Given the description of an element on the screen output the (x, y) to click on. 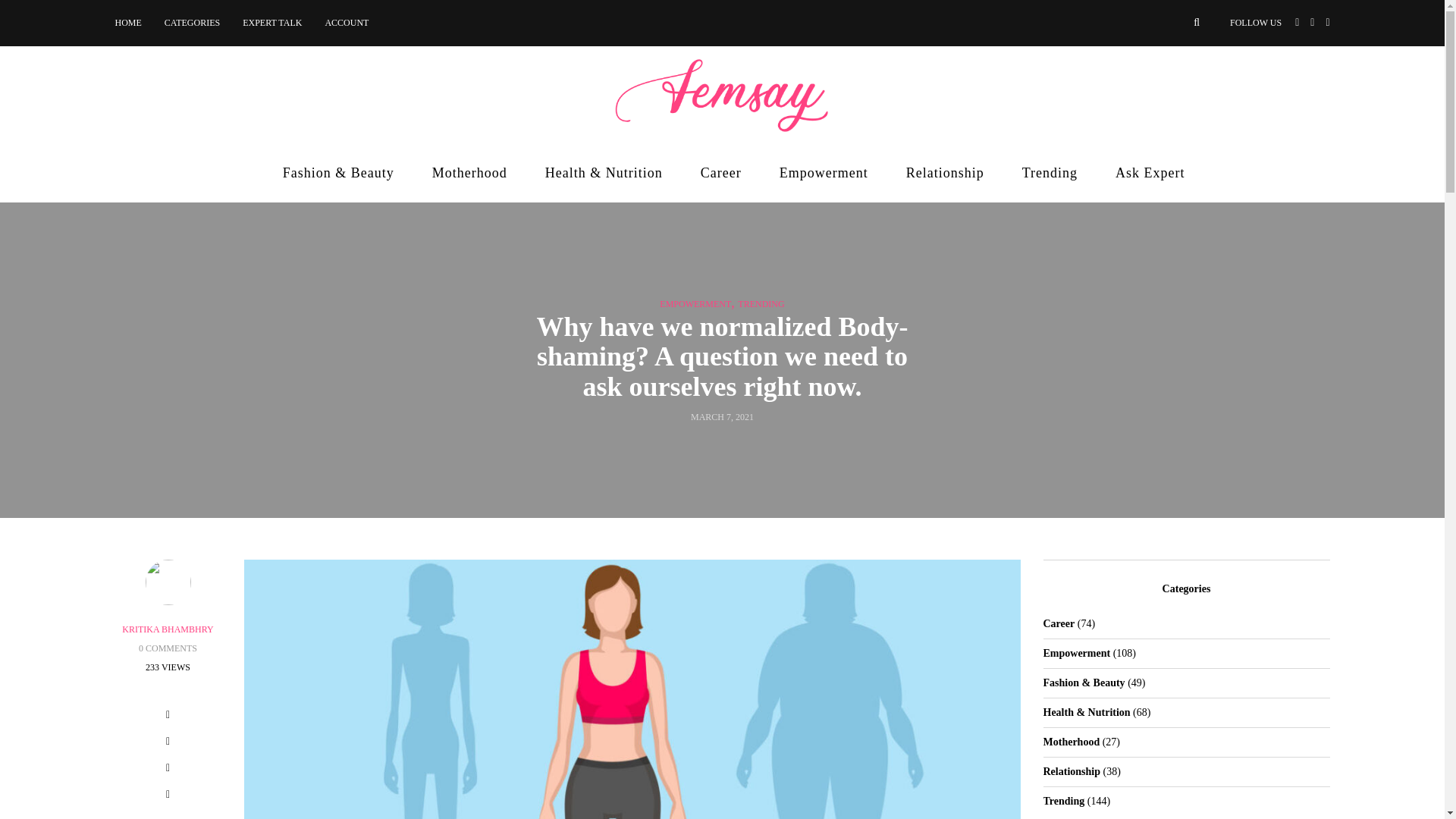
CATEGORIES (191, 22)
Pin this (167, 796)
Posts by Kritika Bhambhry (167, 629)
Tweet this (167, 742)
0 COMMENTS (167, 647)
TRENDING (761, 303)
Empowerment (824, 173)
Share this (167, 716)
Ask Expert (1150, 173)
Trending (1049, 173)
